Given the description of an element on the screen output the (x, y) to click on. 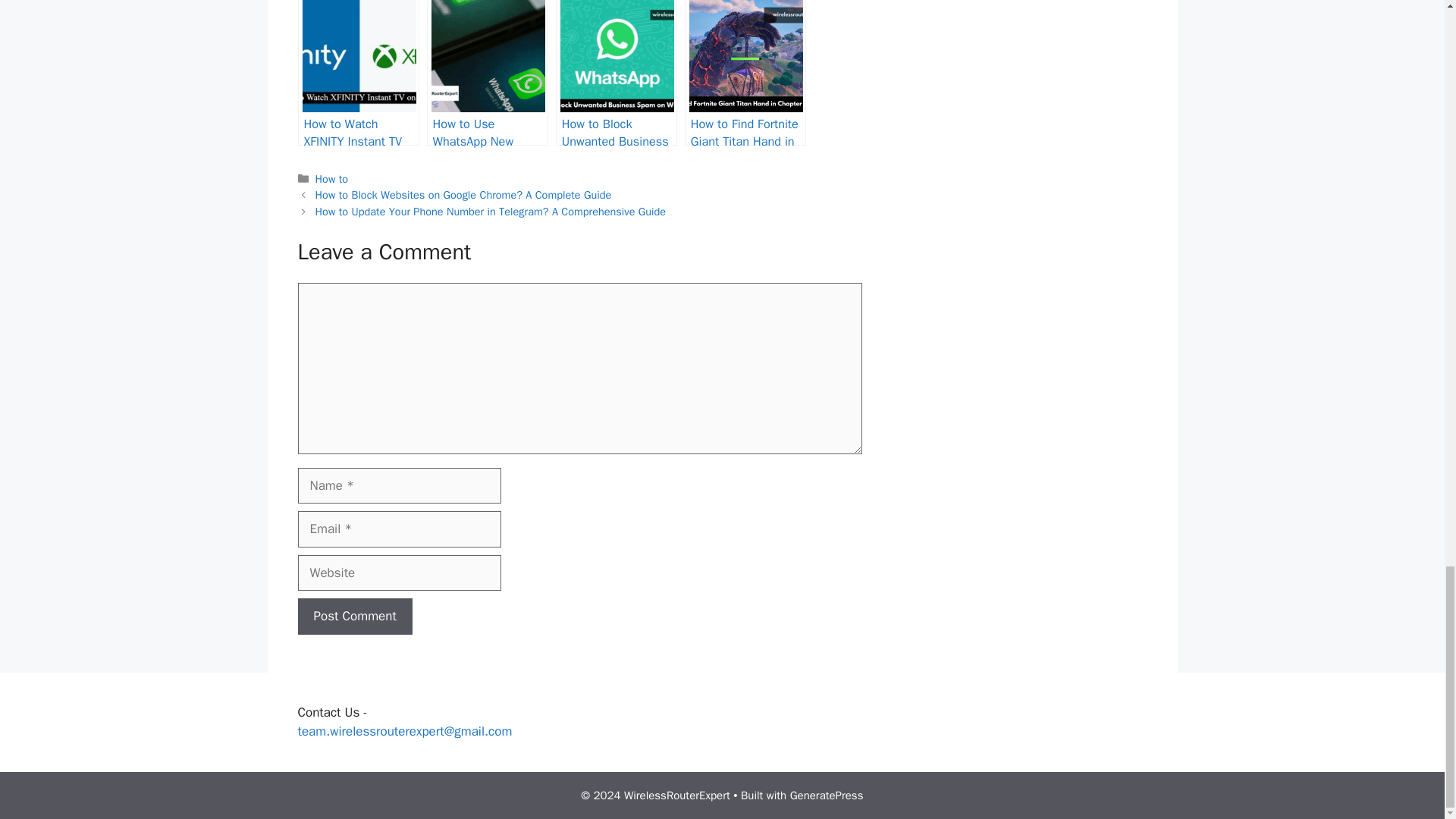
Post Comment (354, 616)
How to (332, 178)
Post Comment (354, 616)
How to Block Websites on Google Chrome? A Complete Guide (463, 194)
